Given the description of an element on the screen output the (x, y) to click on. 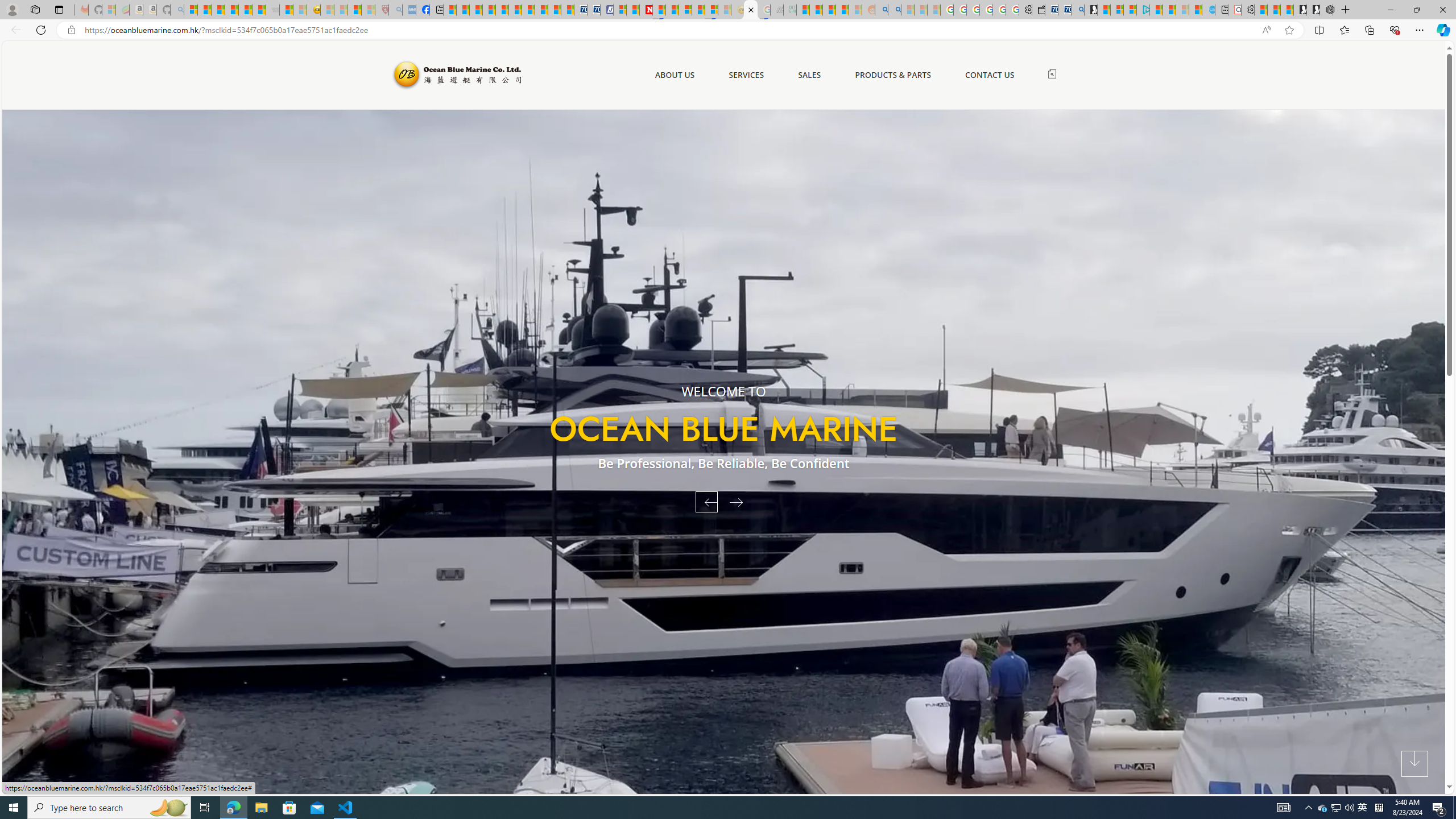
Ocean Blue Marine (455, 74)
SALES (809, 74)
PRODUCTS & PARTS (892, 74)
12 Popular Science Lies that Must be Corrected - Sleeping (368, 9)
Next Slide (740, 501)
PRODUCTS & PARTS (892, 75)
